Given the description of an element on the screen output the (x, y) to click on. 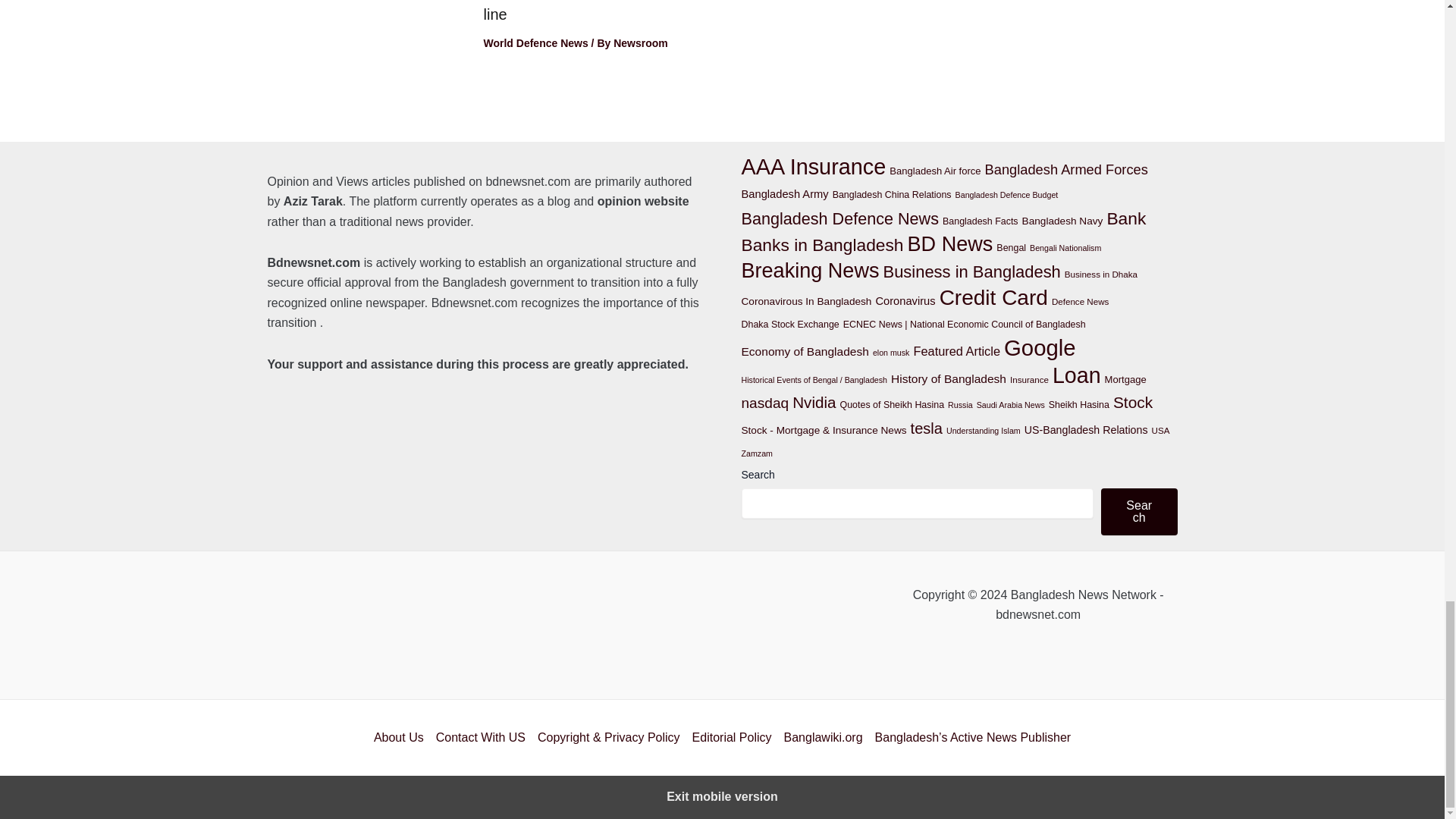
Newsroom (640, 42)
View all posts by Newsroom (640, 42)
World Defence News (535, 42)
